Given the description of an element on the screen output the (x, y) to click on. 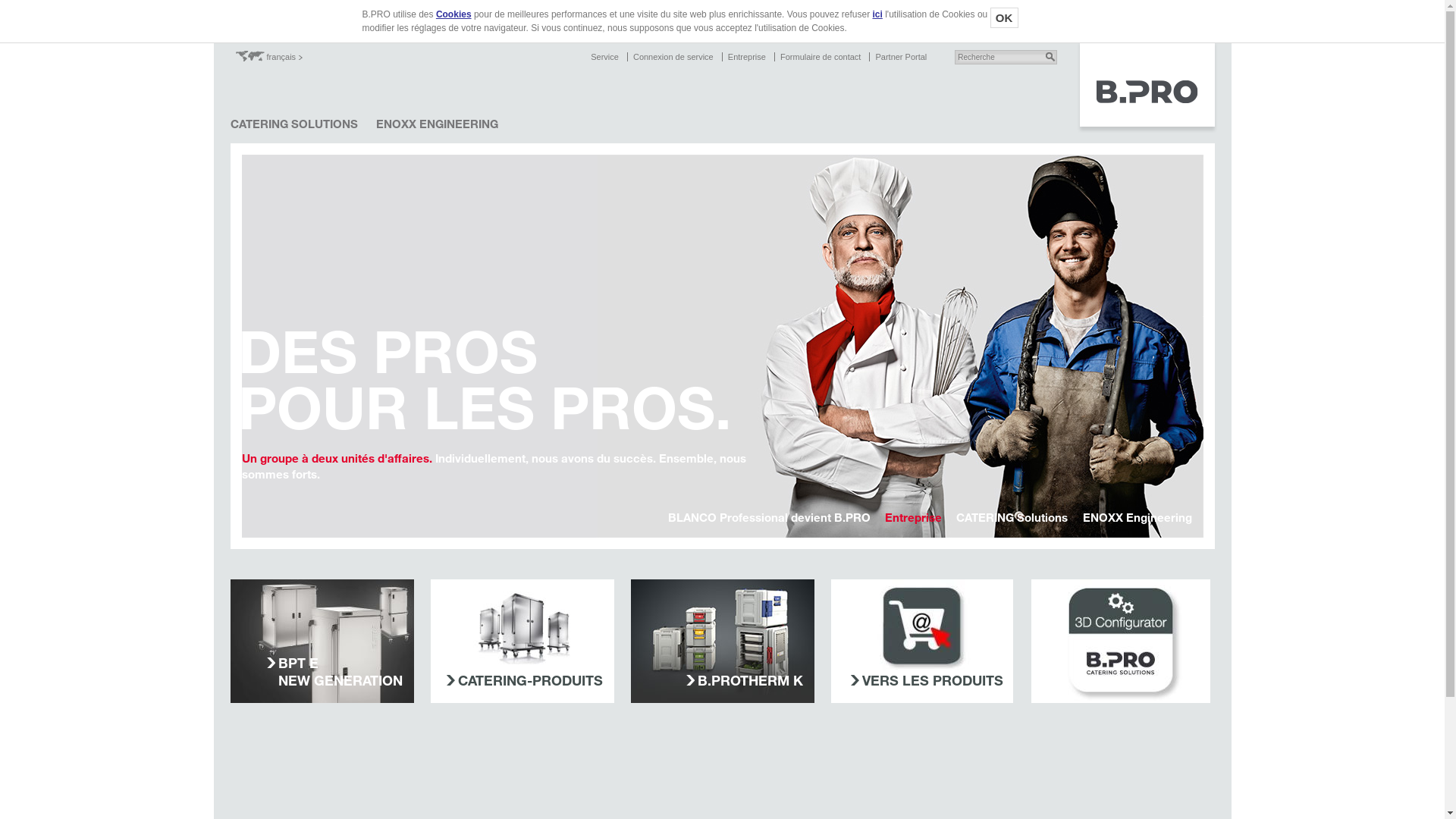
ENOXX ENGINEERING Element type: text (437, 123)
ici Element type: text (877, 14)
B.PROTHERM K Element type: text (743, 680)
Connexion de service Element type: text (673, 56)
ENOXX Engineering Element type: text (1130, 516)
Entreprise Element type: text (907, 516)
BPT E
NEW GENERATION Element type: text (322, 640)
BLANCO Professional devient B.PRO Element type: text (763, 516)
VERS LES PRODUITS Element type: text (926, 680)
Home Element type: hover (1146, 128)
Formulaire de contact Element type: text (820, 56)
CATERING SOLUTIONS Element type: text (293, 123)
VERS LES PRODUITS Element type: text (922, 640)
OK Element type: text (1004, 17)
B.PROTHERM K Element type: text (722, 640)
Entreprise Element type: text (746, 56)
Cookies Element type: text (453, 14)
Service Element type: text (604, 56)
CATERING-PRODUITS Element type: text (522, 640)
Partner Portal Element type: text (900, 56)
CATERING-PRODUITS Element type: text (523, 680)
BPT E
NEW GENERATION Element type: text (334, 671)
CATERING Solutions Element type: text (1005, 516)
